Given the description of an element on the screen output the (x, y) to click on. 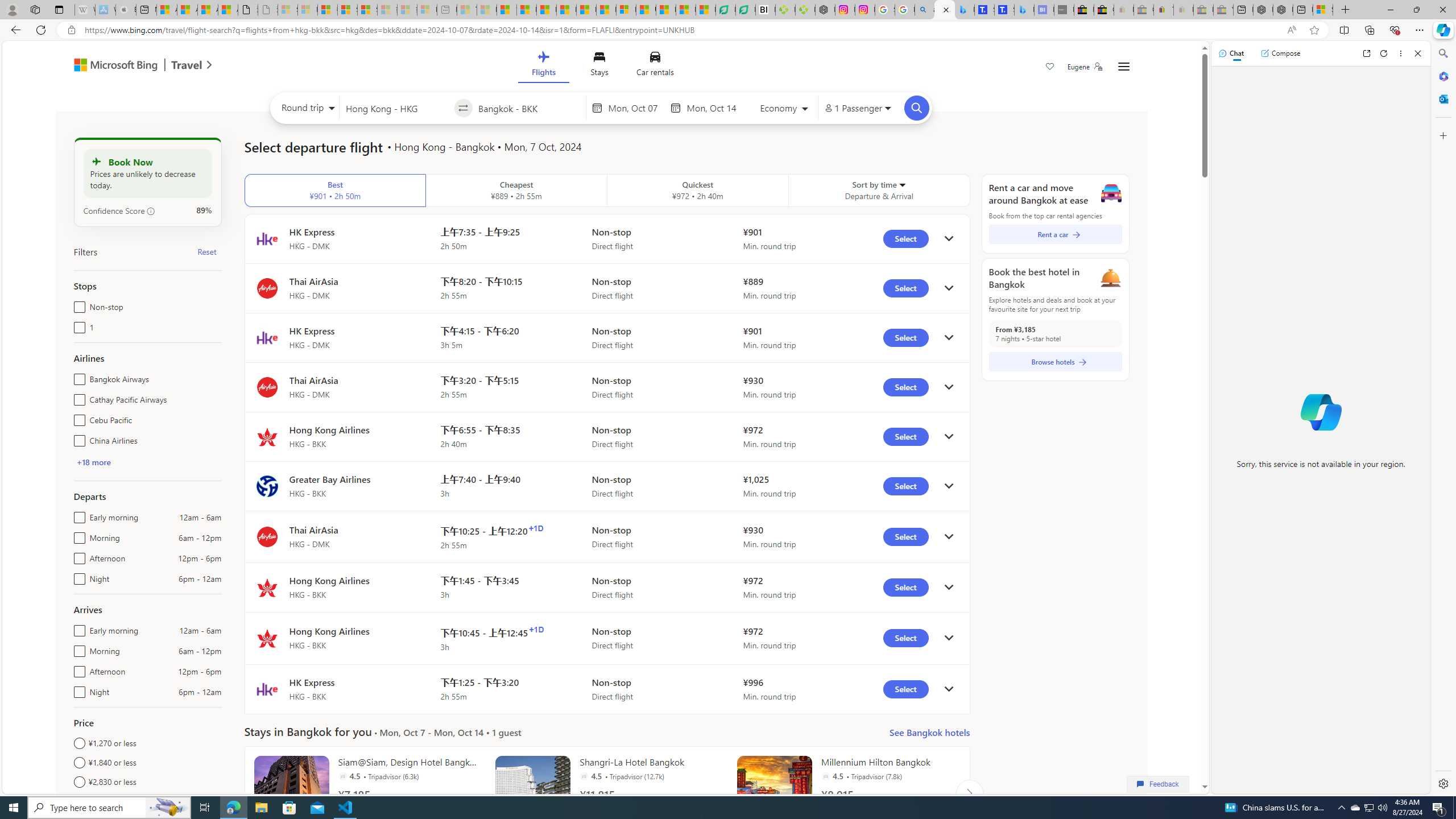
Going to? (528, 107)
Flights (542, 65)
Sort by time Sorter Departure & Arrival (879, 190)
Leaving from? (396, 107)
